Given the description of an element on the screen output the (x, y) to click on. 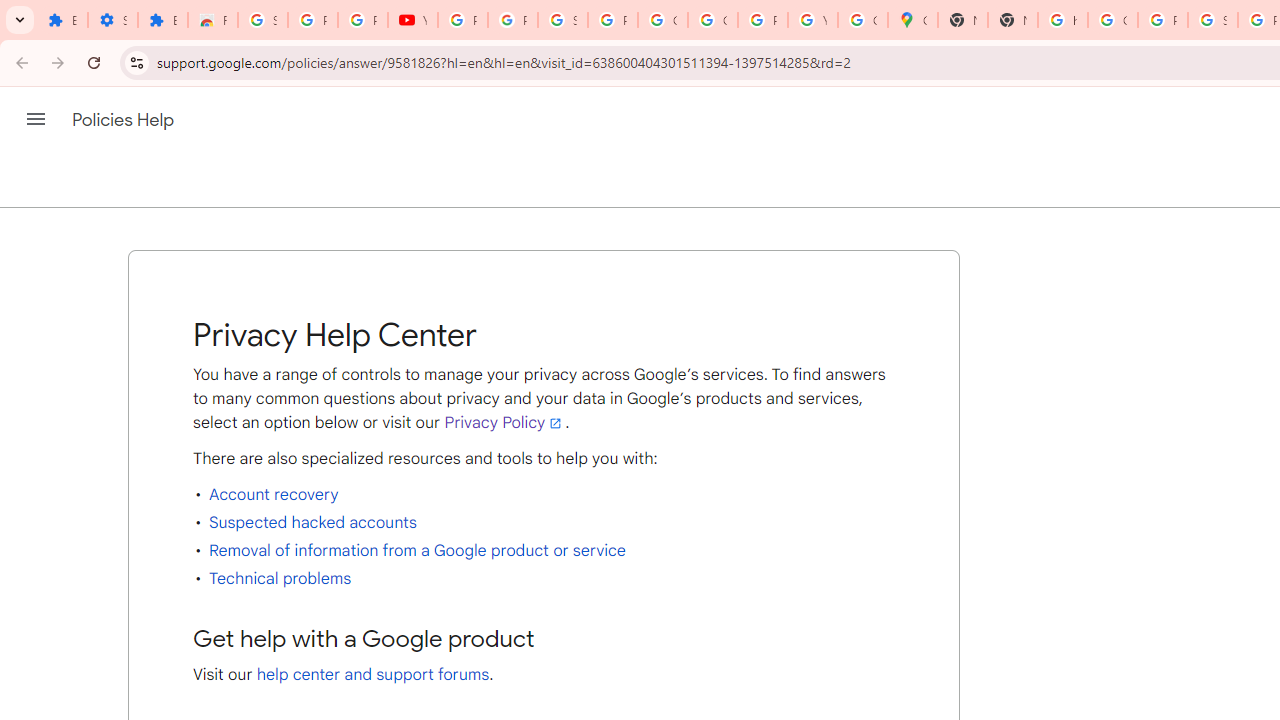
Technical problems (280, 578)
Google Account (662, 20)
help center and support forums (373, 674)
Google Maps (913, 20)
Policies Help (124, 119)
Reviews: Helix Fruit Jump Arcade Game (213, 20)
Sign in - Google Accounts (262, 20)
